Given the description of an element on the screen output the (x, y) to click on. 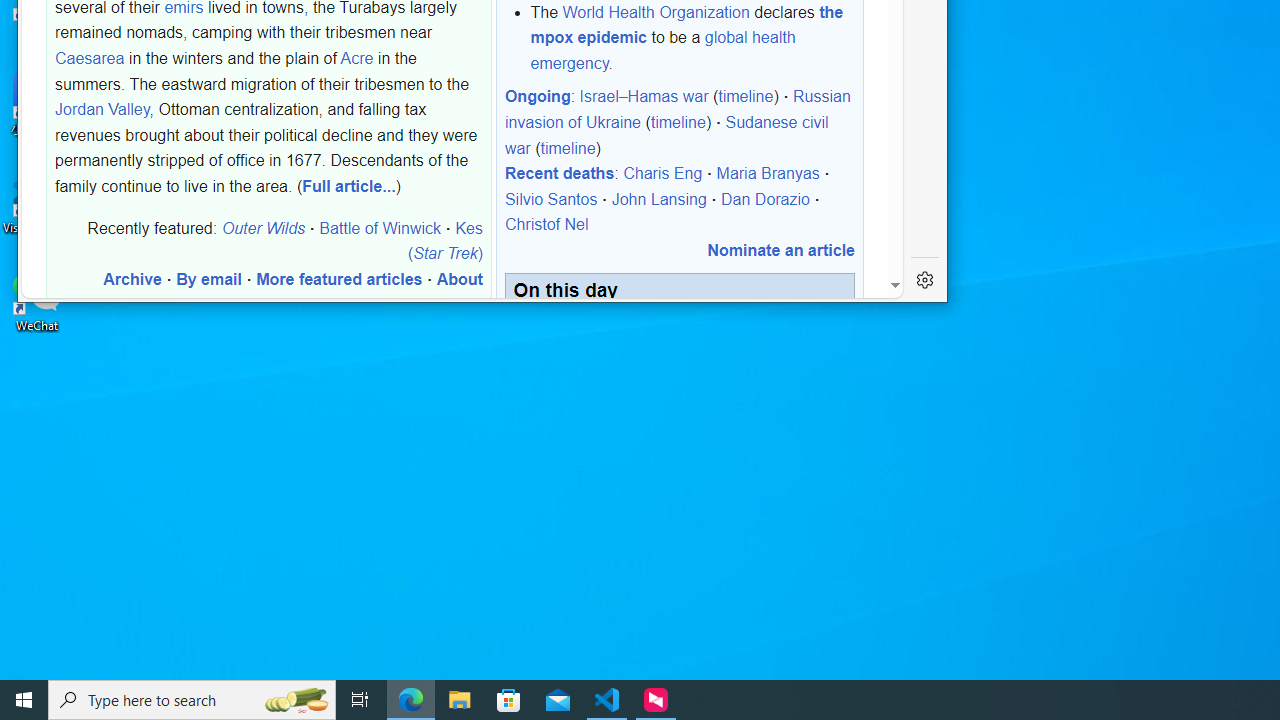
Microsoft Edge - 1 running window (411, 699)
